Given the description of an element on the screen output the (x, y) to click on. 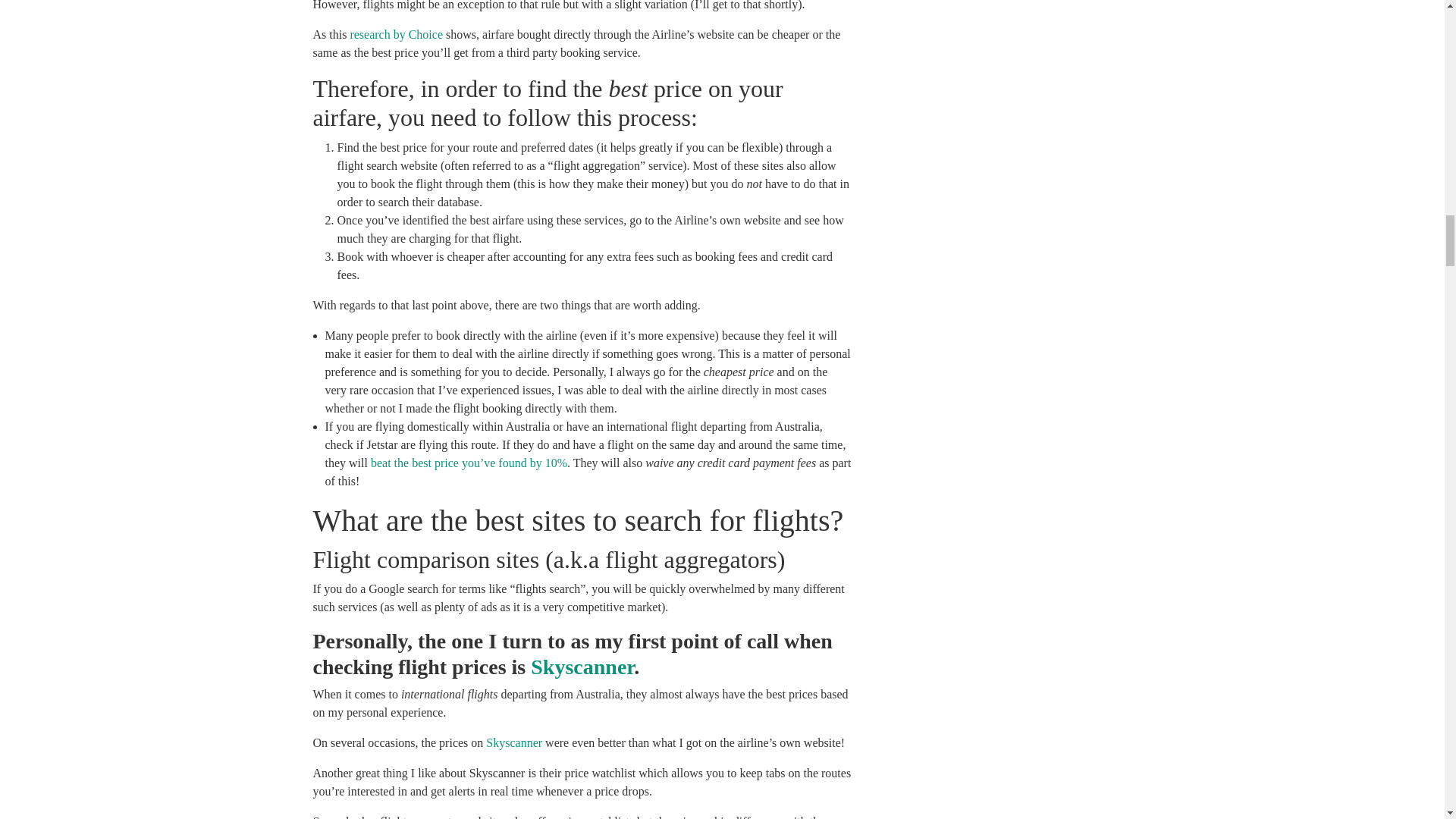
research by Choice (395, 33)
Skyscanner (513, 742)
Skyscanner (582, 666)
